Given the description of an element on the screen output the (x, y) to click on. 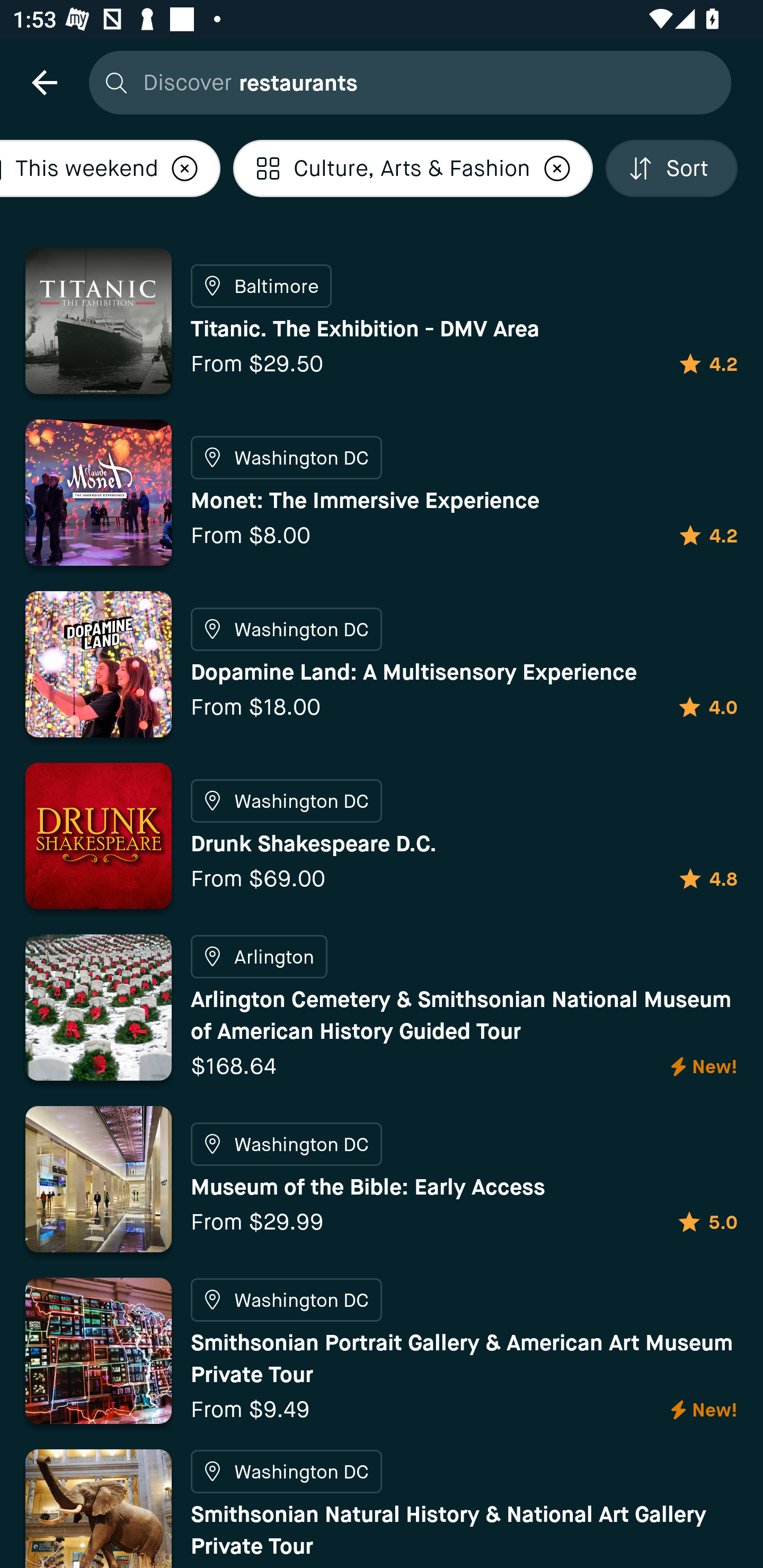
navigation icon (44, 81)
Discover restaurants (405, 81)
Localized description (184, 168)
Localized description (557, 168)
Localized description Sort (671, 168)
